Given the description of an element on the screen output the (x, y) to click on. 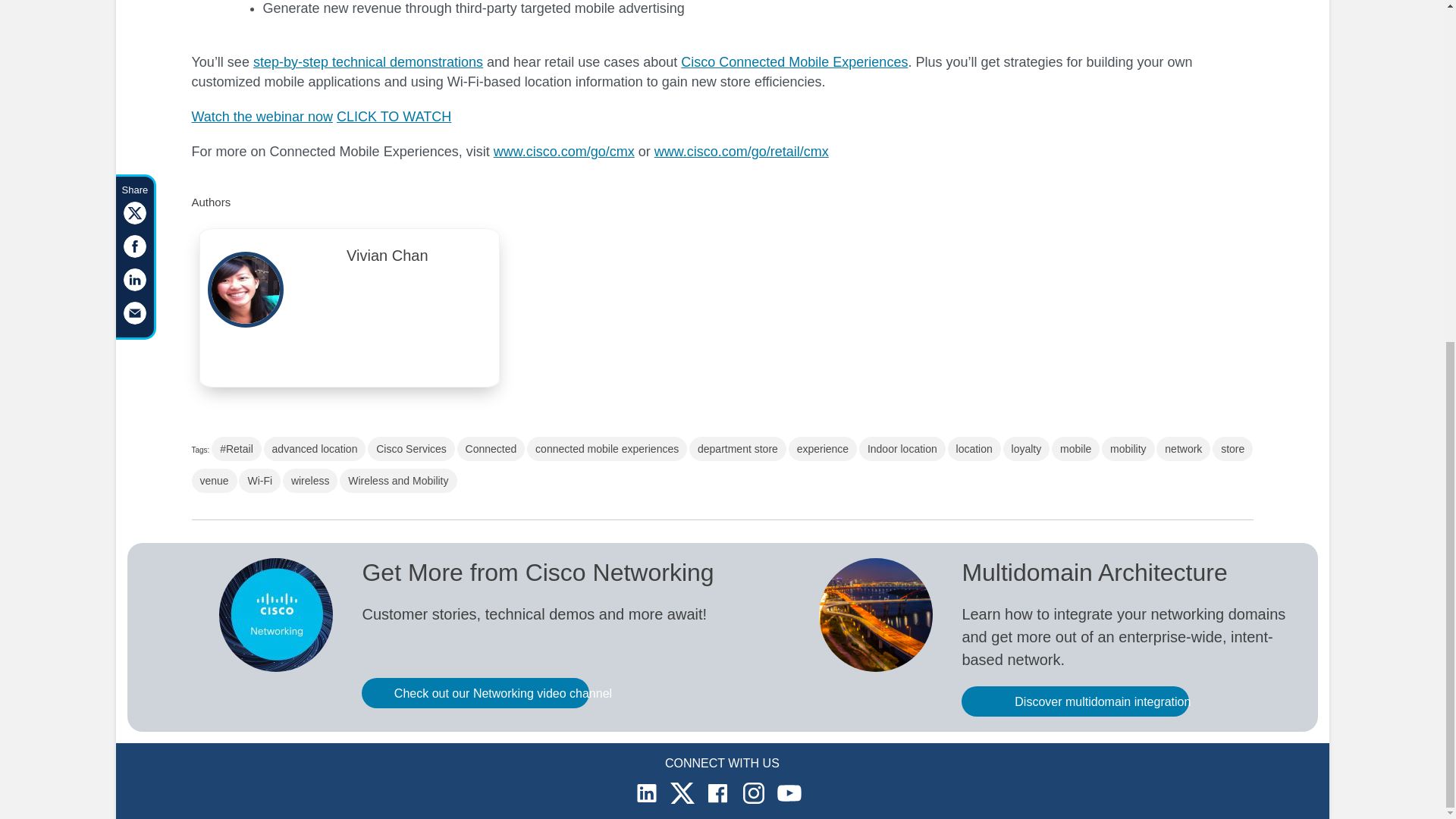
Cisco Connected Mobile Experiences (794, 61)
CLICK TO WATCH (393, 116)
mobility (1128, 448)
department store (737, 448)
network (1182, 448)
Watch the webinar now (260, 116)
Indoor location (901, 448)
venue (212, 480)
step-by-step technical demonstrations (368, 61)
Cisco Services (411, 448)
